Given the description of an element on the screen output the (x, y) to click on. 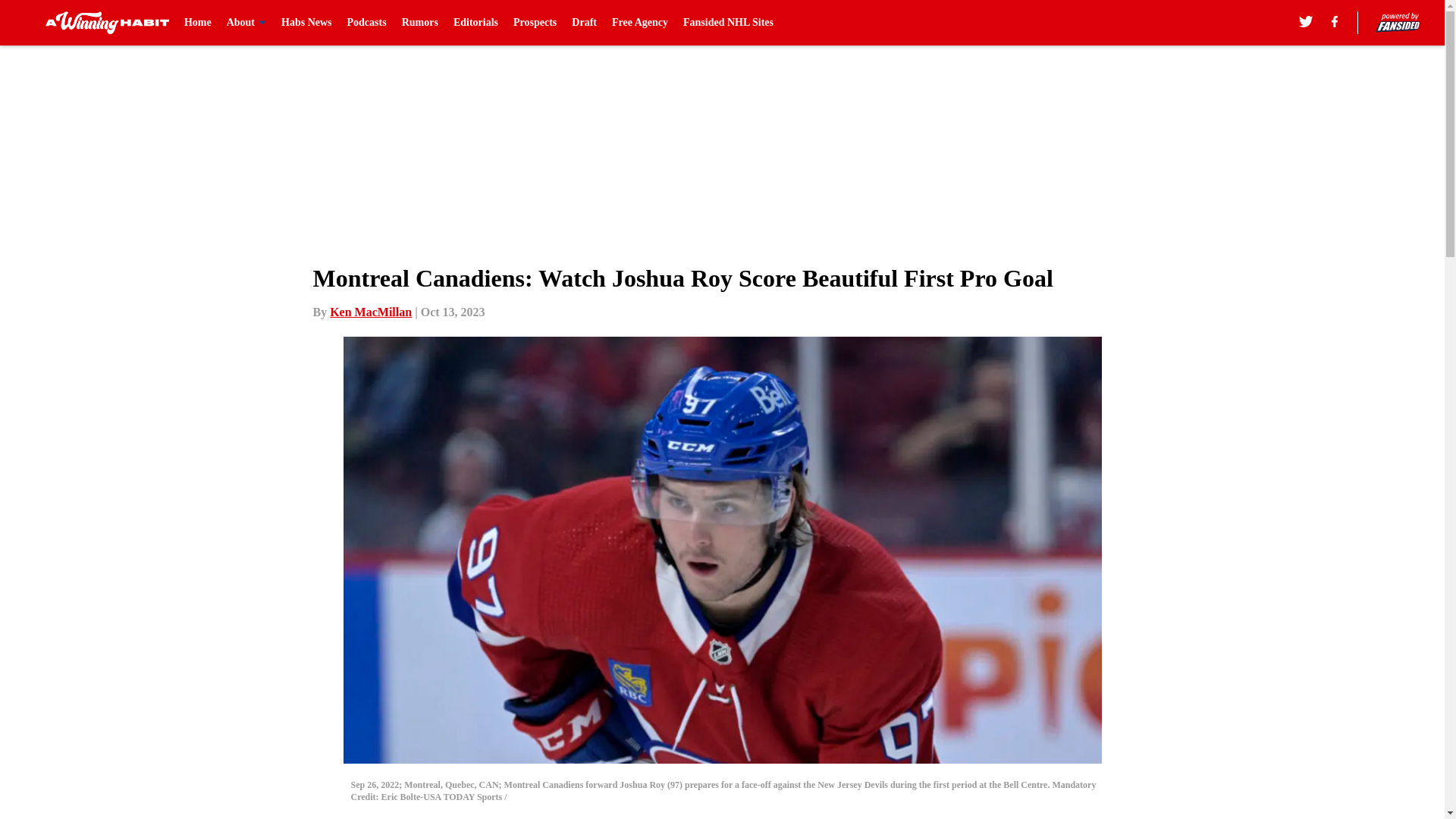
Editorials (474, 22)
Fansided NHL Sites (727, 22)
Draft (584, 22)
Ken MacMillan (371, 311)
Habs News (306, 22)
Free Agency (639, 22)
Podcasts (367, 22)
Home (197, 22)
Prospects (534, 22)
Rumors (419, 22)
